Given the description of an element on the screen output the (x, y) to click on. 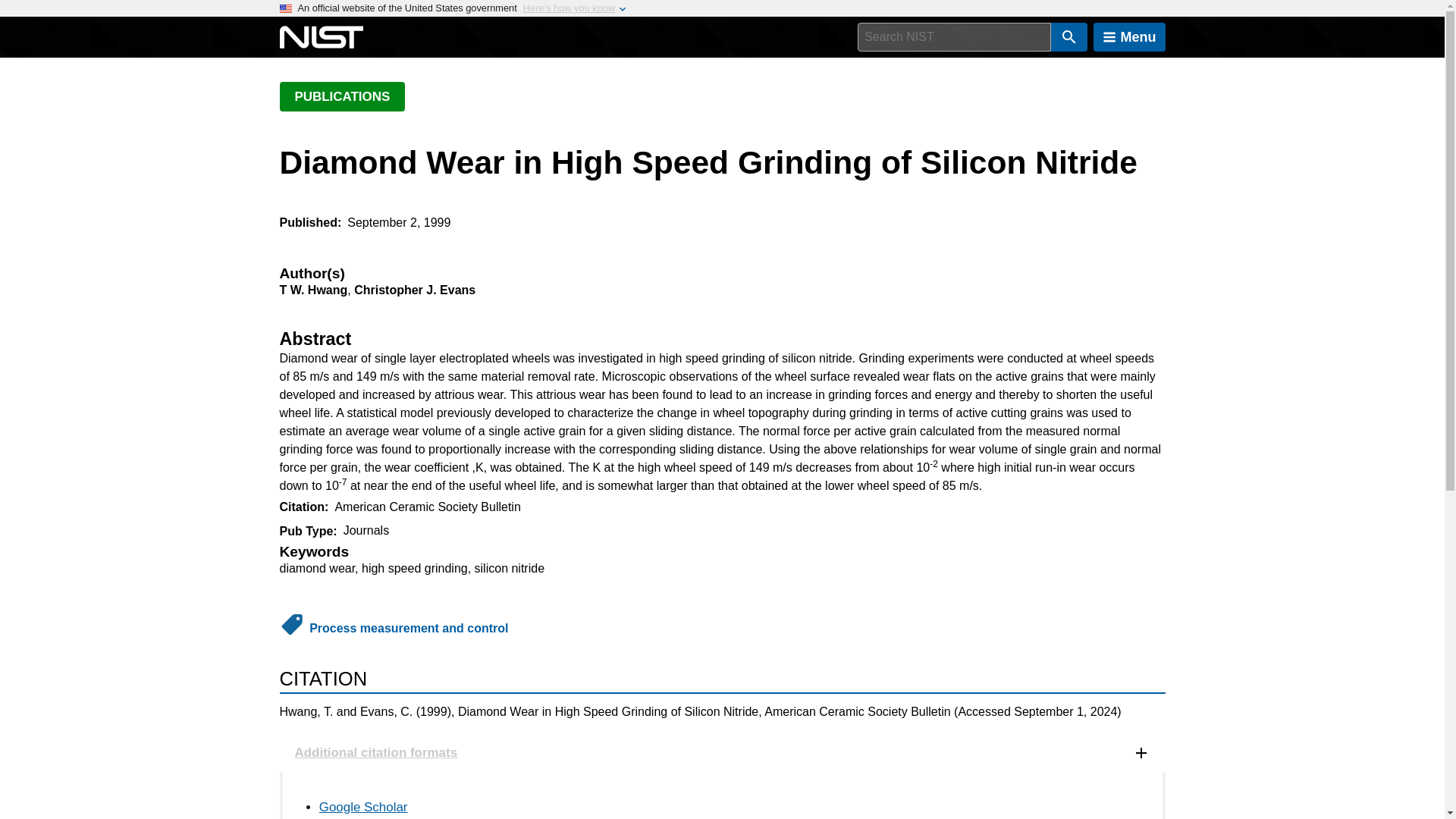
Menu (1129, 36)
National Institute of Standards and Technology (320, 36)
